Given the description of an element on the screen output the (x, y) to click on. 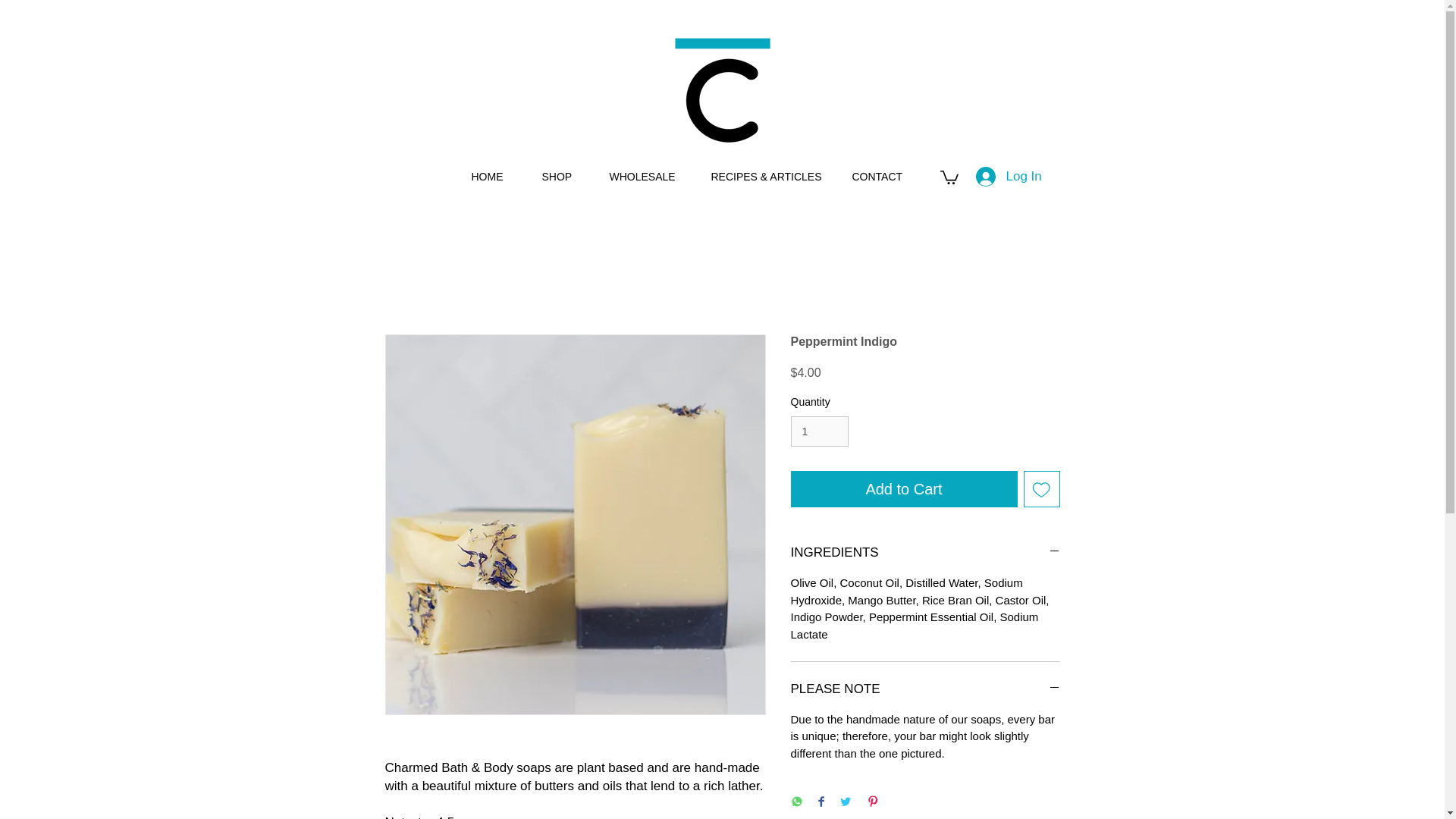
INGREDIENTS (924, 552)
CONTACT (885, 176)
1 (818, 431)
Log In (982, 176)
PLEASE NOTE (924, 689)
Add to Cart (903, 488)
youtubec.png (722, 90)
WHOLESALE (647, 176)
HOME (494, 176)
